Given the description of an element on the screen output the (x, y) to click on. 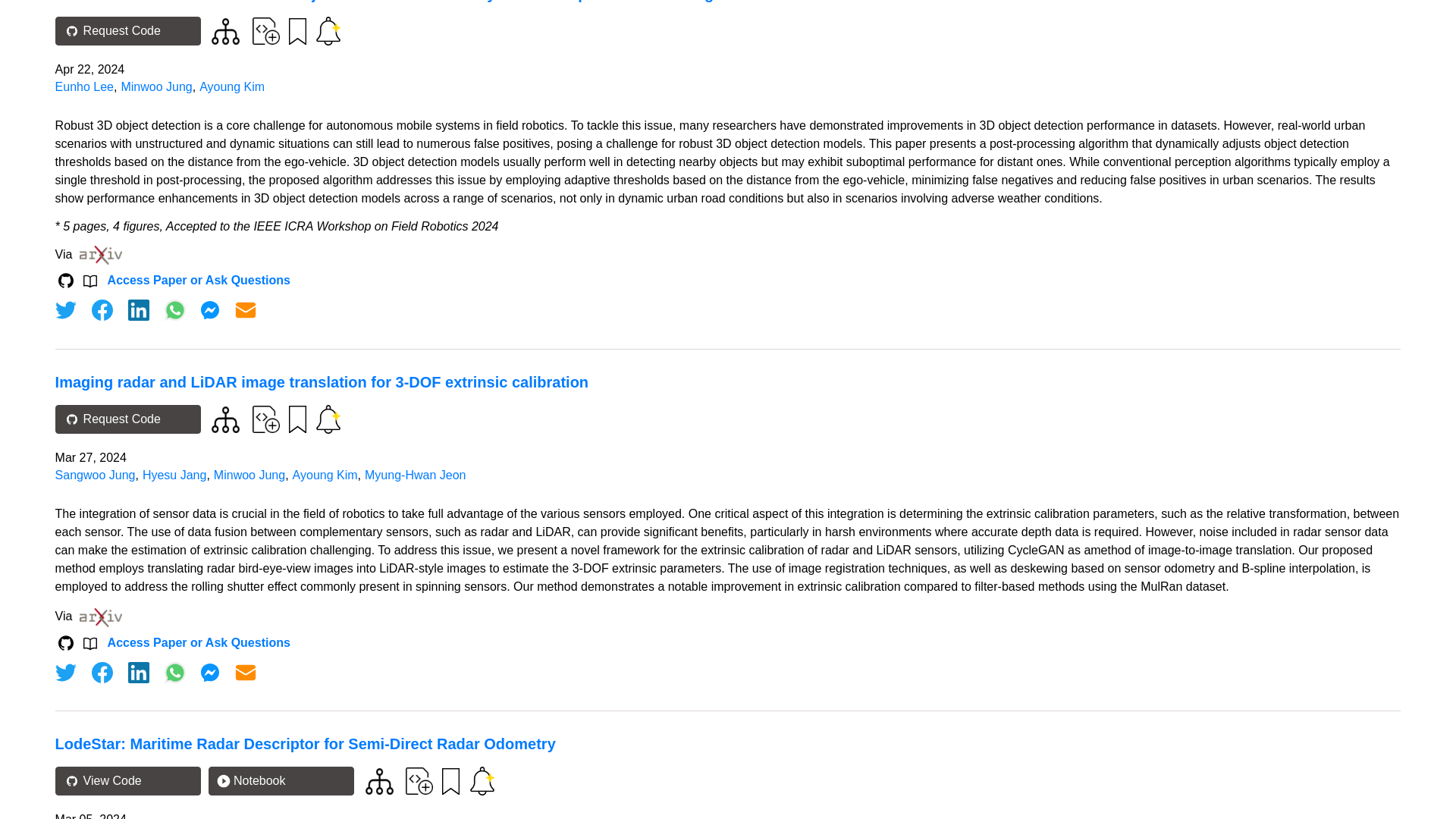
Ayoung Kim (231, 86)
Access Paper or Ask Questions (198, 280)
Share via Email (245, 309)
View code for similar papers (225, 31)
Contribute your code for this paper to the community (265, 30)
Minwoo Jung (156, 86)
View code for similar papers (225, 419)
Eunho Lee (84, 86)
Share via Email (245, 671)
Contribute your code for this paper to the community (265, 418)
Request Code (127, 30)
